Given the description of an element on the screen output the (x, y) to click on. 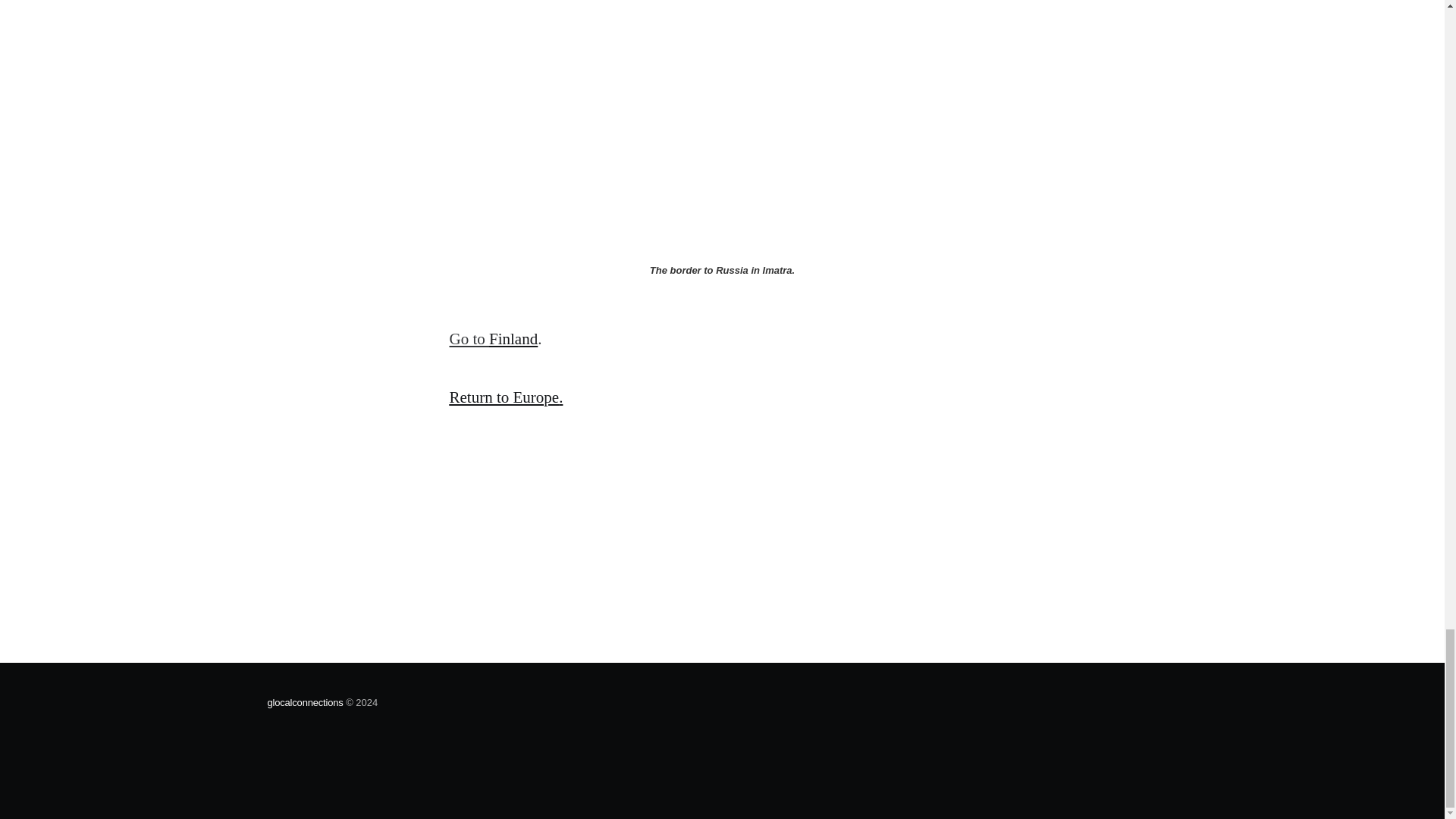
glocalconnections (304, 702)
Finland (513, 339)
Return to Europe. (505, 397)
